Given the description of an element on the screen output the (x, y) to click on. 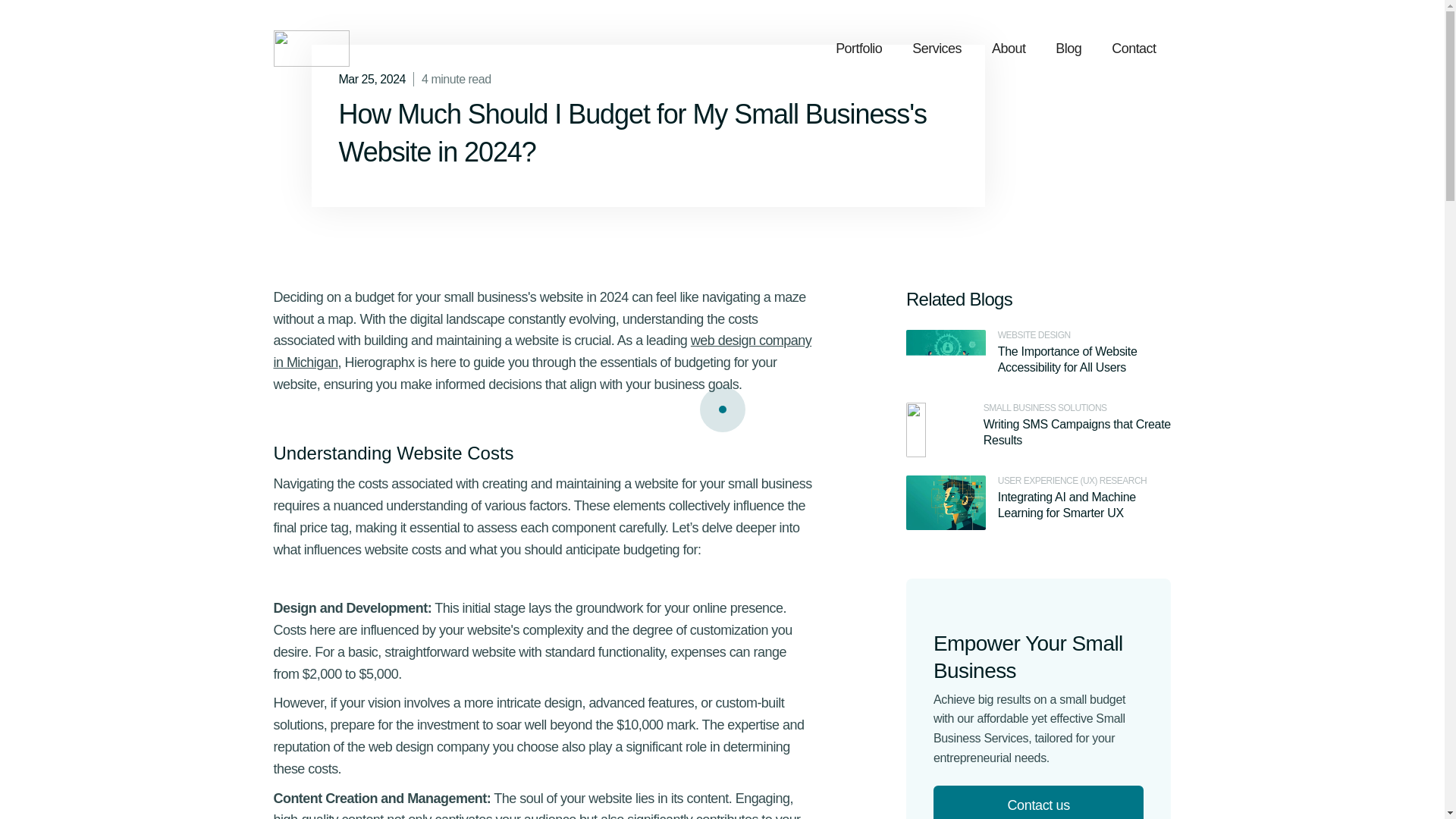
Portfolio (858, 48)
Contact (1133, 48)
About (1008, 48)
Services (936, 48)
Blog (1068, 48)
Contact us (1038, 802)
web design company in Michigan (541, 351)
